Given the description of an element on the screen output the (x, y) to click on. 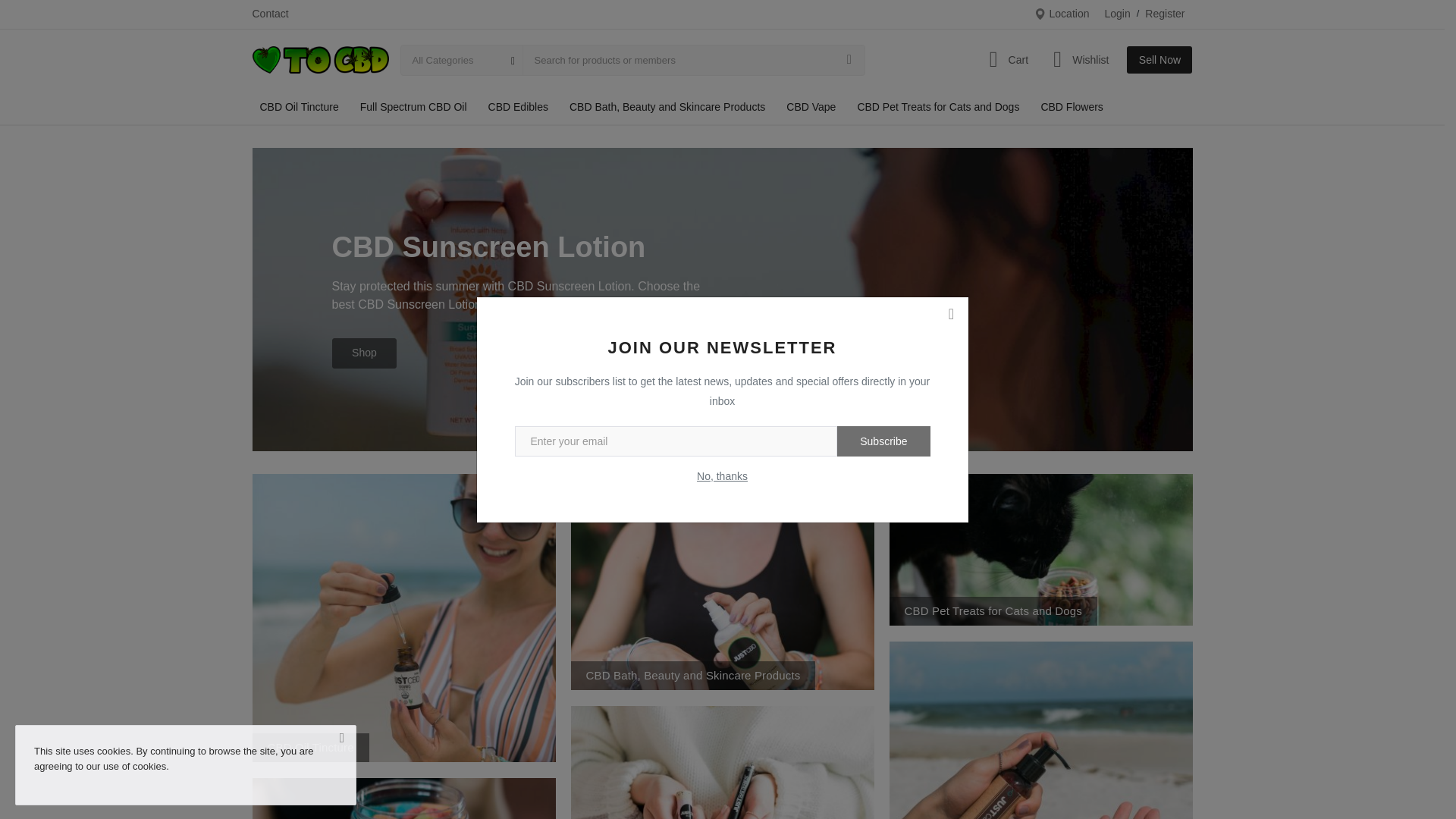
Search (1050, 85)
find out this here (546, 542)
August 2020 (996, 432)
discover more here (423, 345)
Search (1050, 85)
Log in (980, 588)
Terms of Use (996, 330)
Disclaimer (990, 354)
Latest Article (996, 172)
Blog (976, 510)
Search for: (1049, 47)
read the full info here (602, 552)
Contact Us (991, 258)
ADMINISTRATOR (417, 81)
LILIESFINELINENS.COM (416, 28)
